Given the description of an element on the screen output the (x, y) to click on. 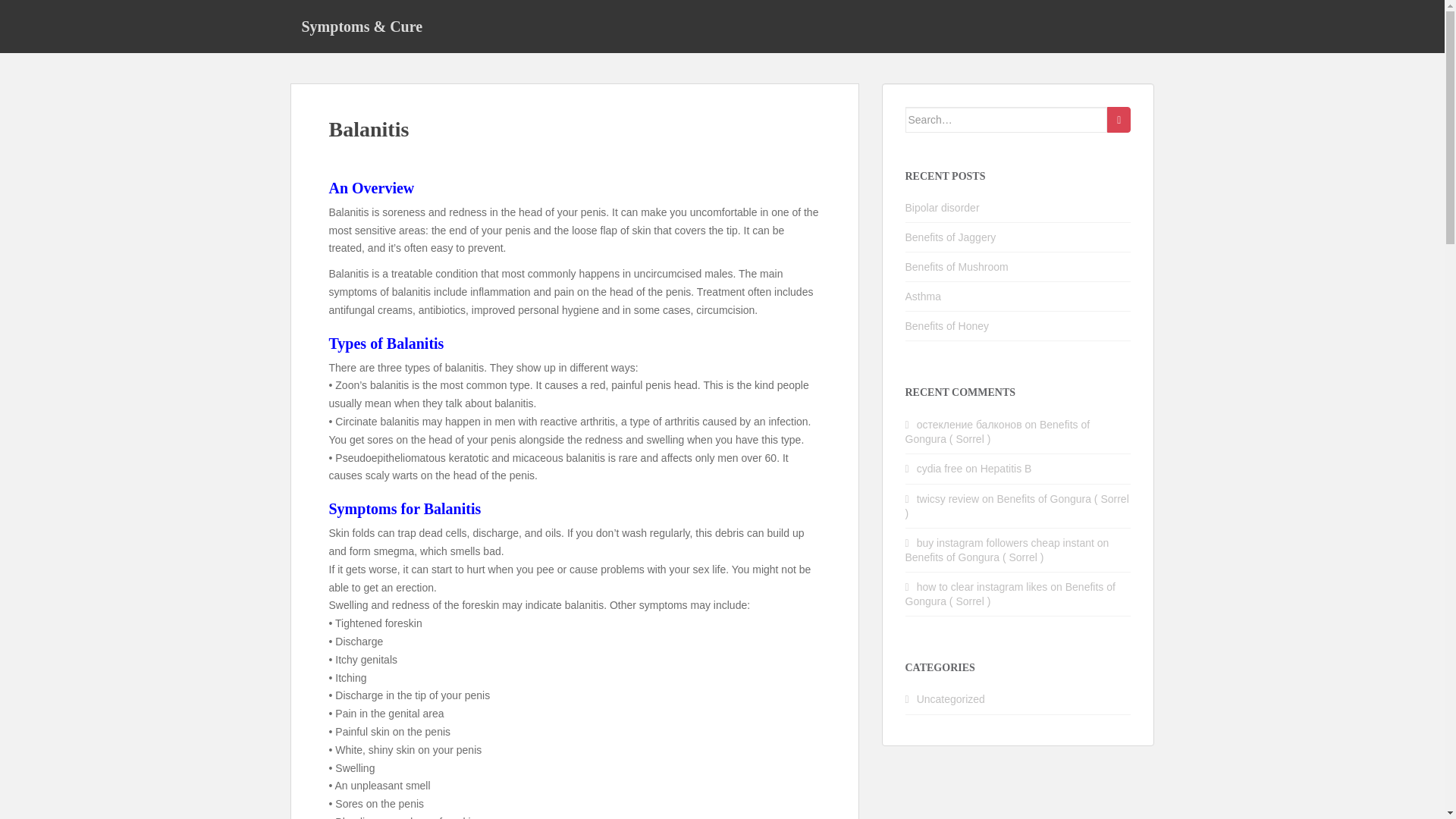
cydia free (939, 468)
Search for: (1006, 119)
buy instagram followers cheap instant (1005, 542)
twicsy review (947, 499)
Uncategorized (951, 698)
Benefits of Mushroom (957, 266)
Benefits of Honey (947, 326)
Benefits of Jaggery (950, 236)
Hepatitis B (1005, 468)
Bipolar disorder (942, 207)
Search (1118, 119)
Asthma (922, 296)
how to clear instagram likes (982, 586)
